Given the description of an element on the screen output the (x, y) to click on. 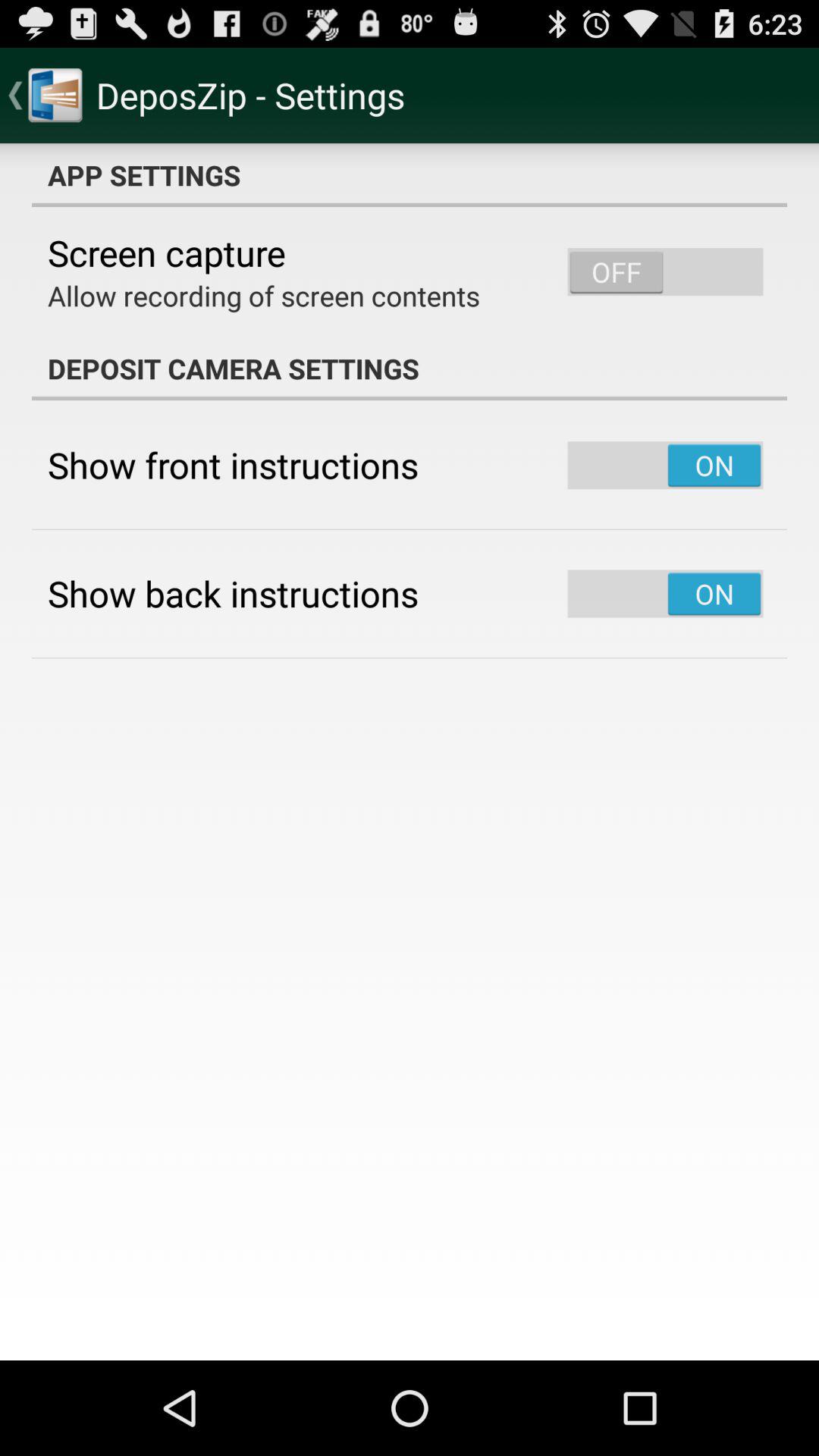
launch the app settings item (409, 175)
